Given the description of an element on the screen output the (x, y) to click on. 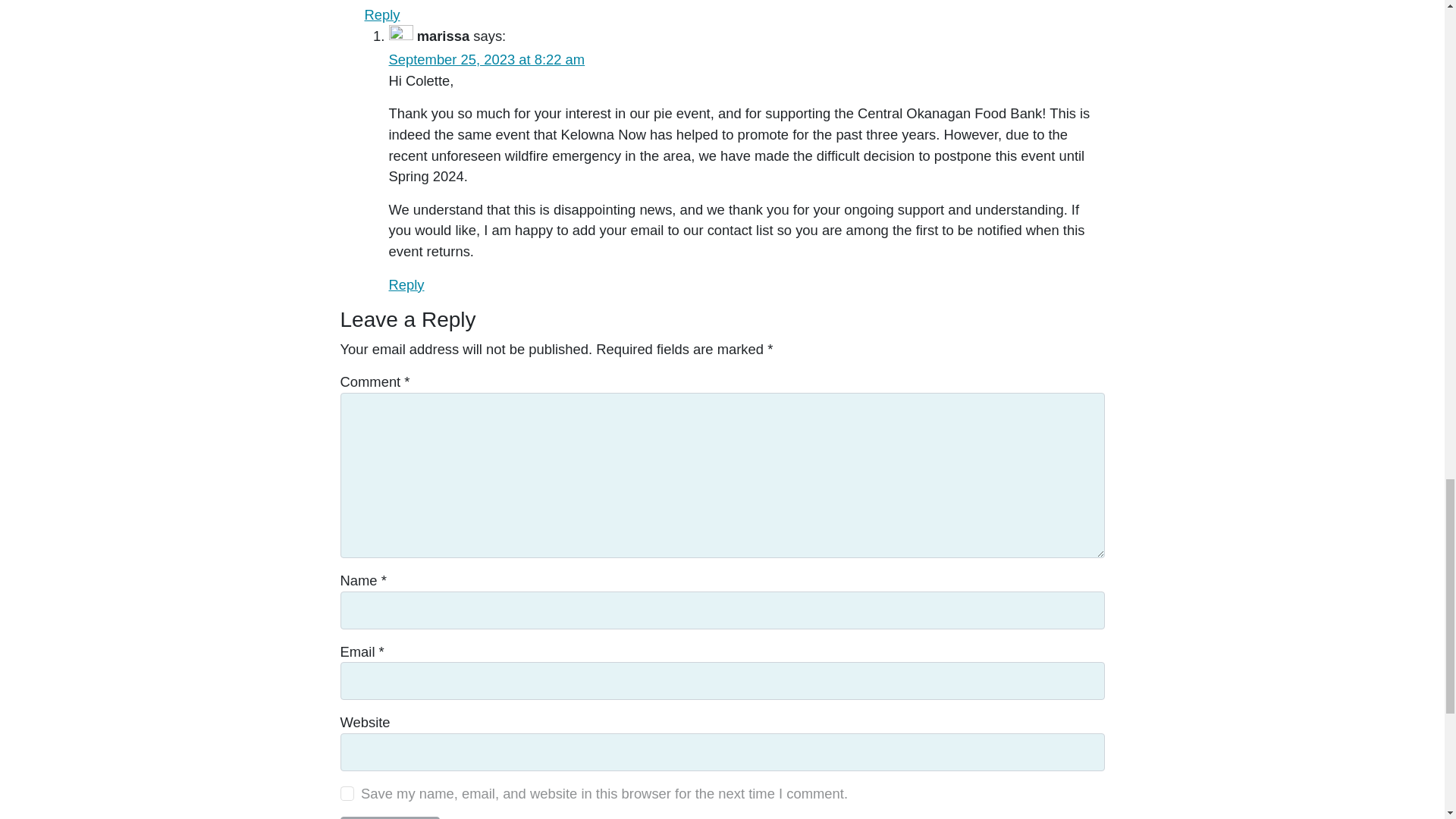
Post Comment (389, 817)
yes (346, 793)
